Given the description of an element on the screen output the (x, y) to click on. 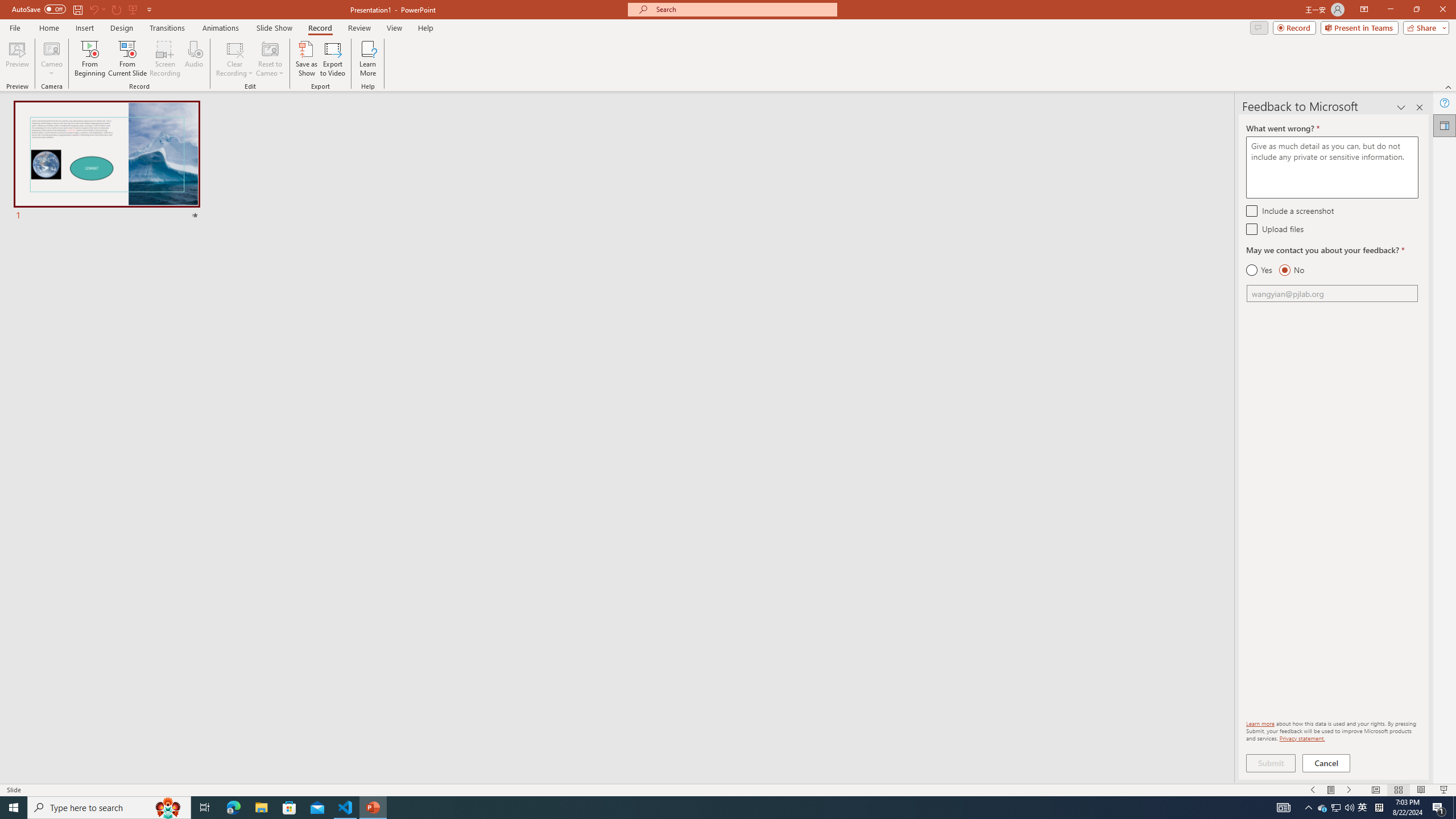
Privacy statement. (1301, 738)
Yes (1259, 269)
Upload files (1251, 228)
No (1291, 269)
